Given the description of an element on the screen output the (x, y) to click on. 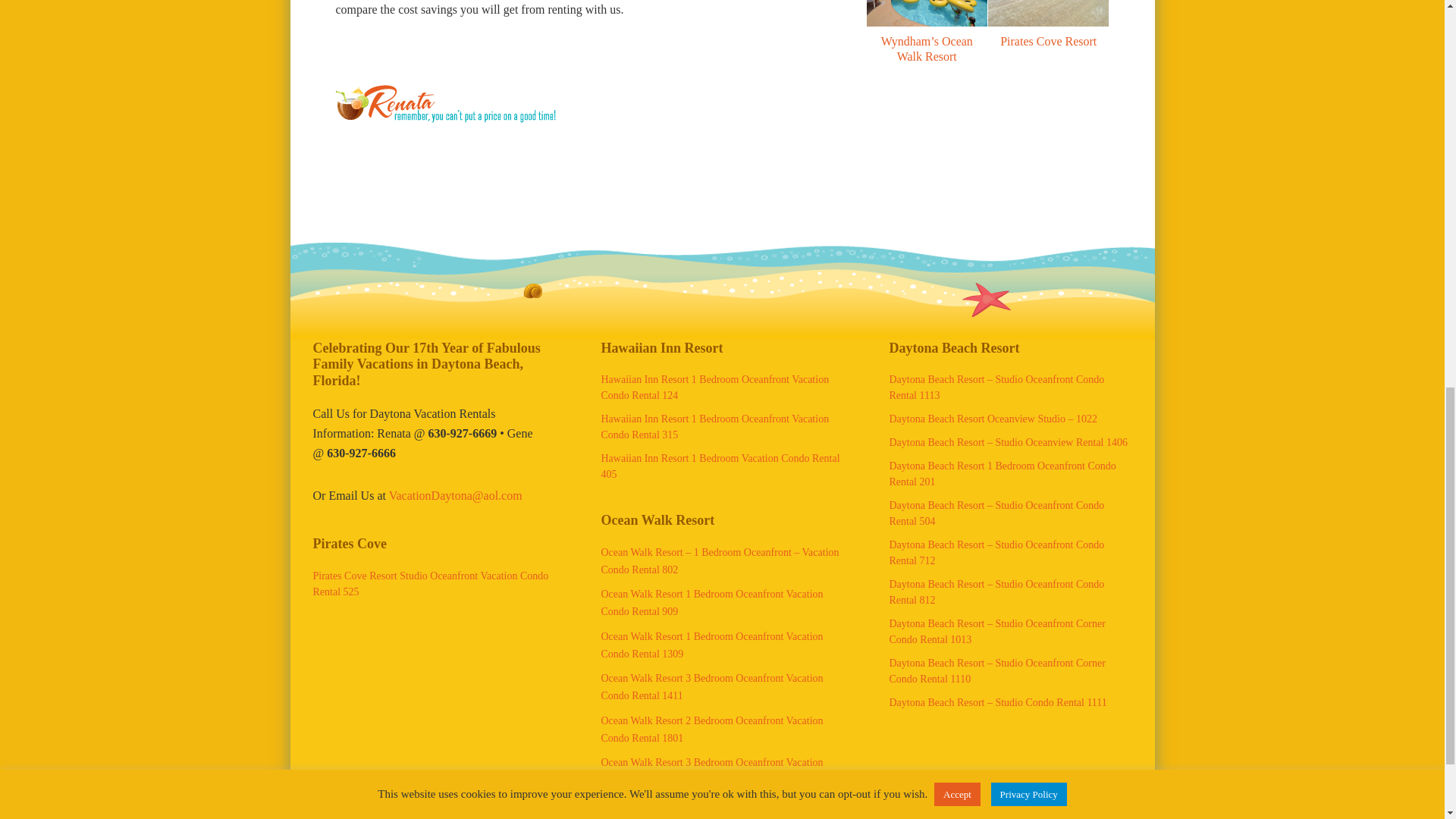
Pirates Cove Resort (1048, 41)
Pirates Cove Resort (1048, 13)
Hawaiian Inn Resort 1 Bedroom Vacation Condo Rental 405 (719, 465)
Pirates Cove Resort (1048, 41)
